Given the description of an element on the screen output the (x, y) to click on. 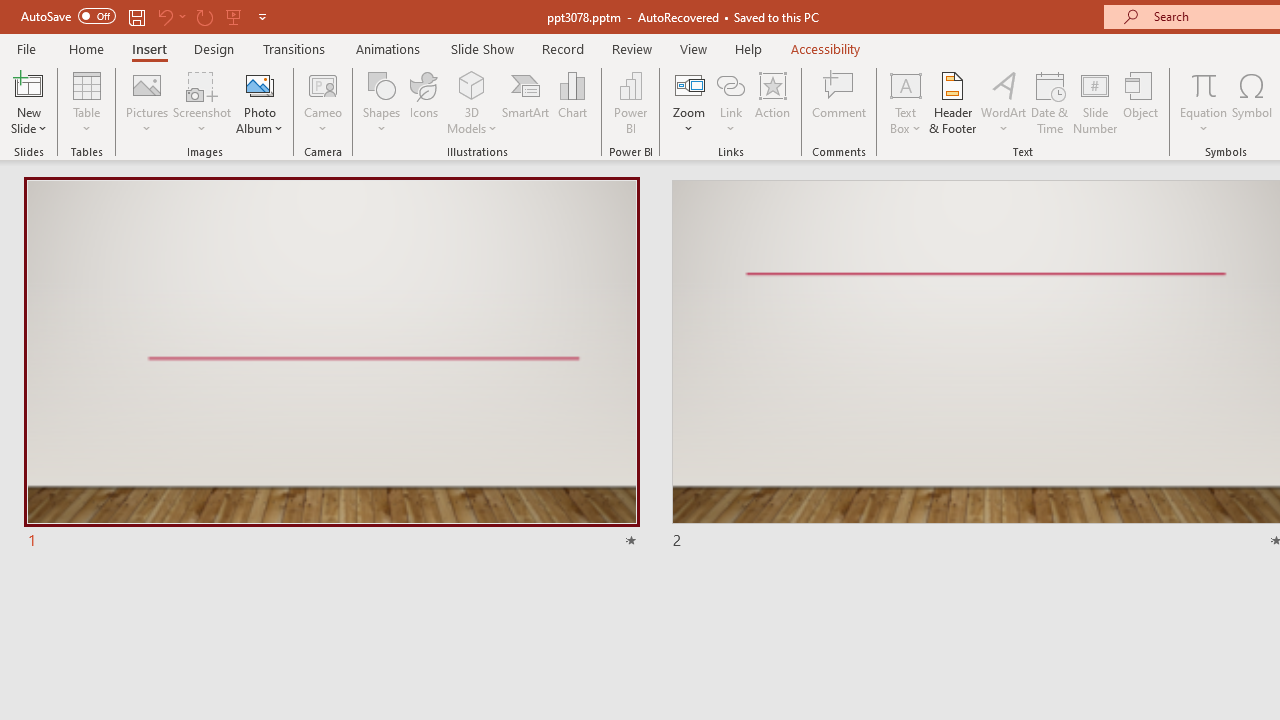
Icons (424, 102)
Photo Album... (259, 102)
Draw Horizontal Text Box (905, 84)
Object... (1141, 102)
Header & Footer... (952, 102)
